Given the description of an element on the screen output the (x, y) to click on. 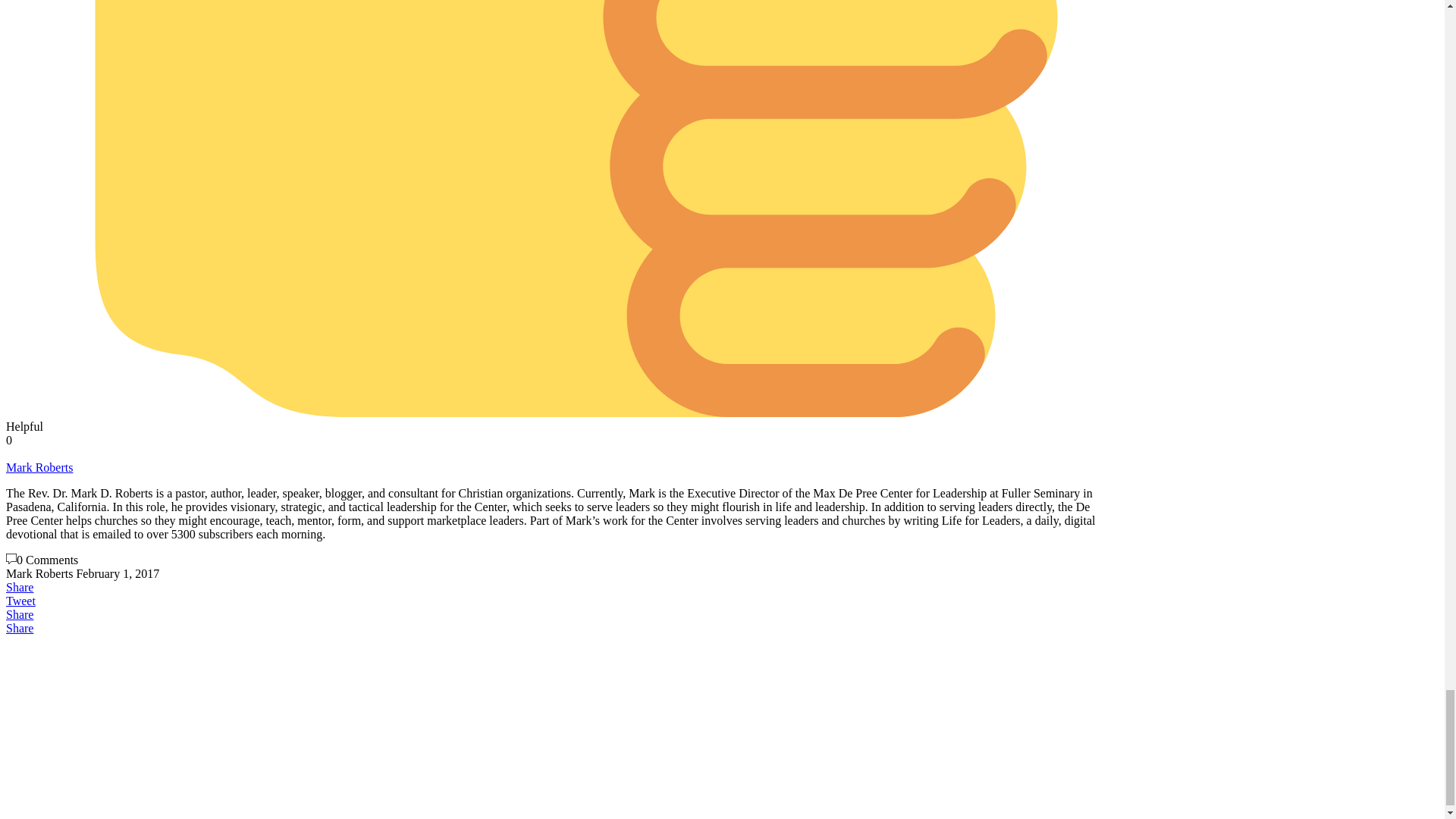
Mark Roberts (38, 467)
